Given the description of an element on the screen output the (x, y) to click on. 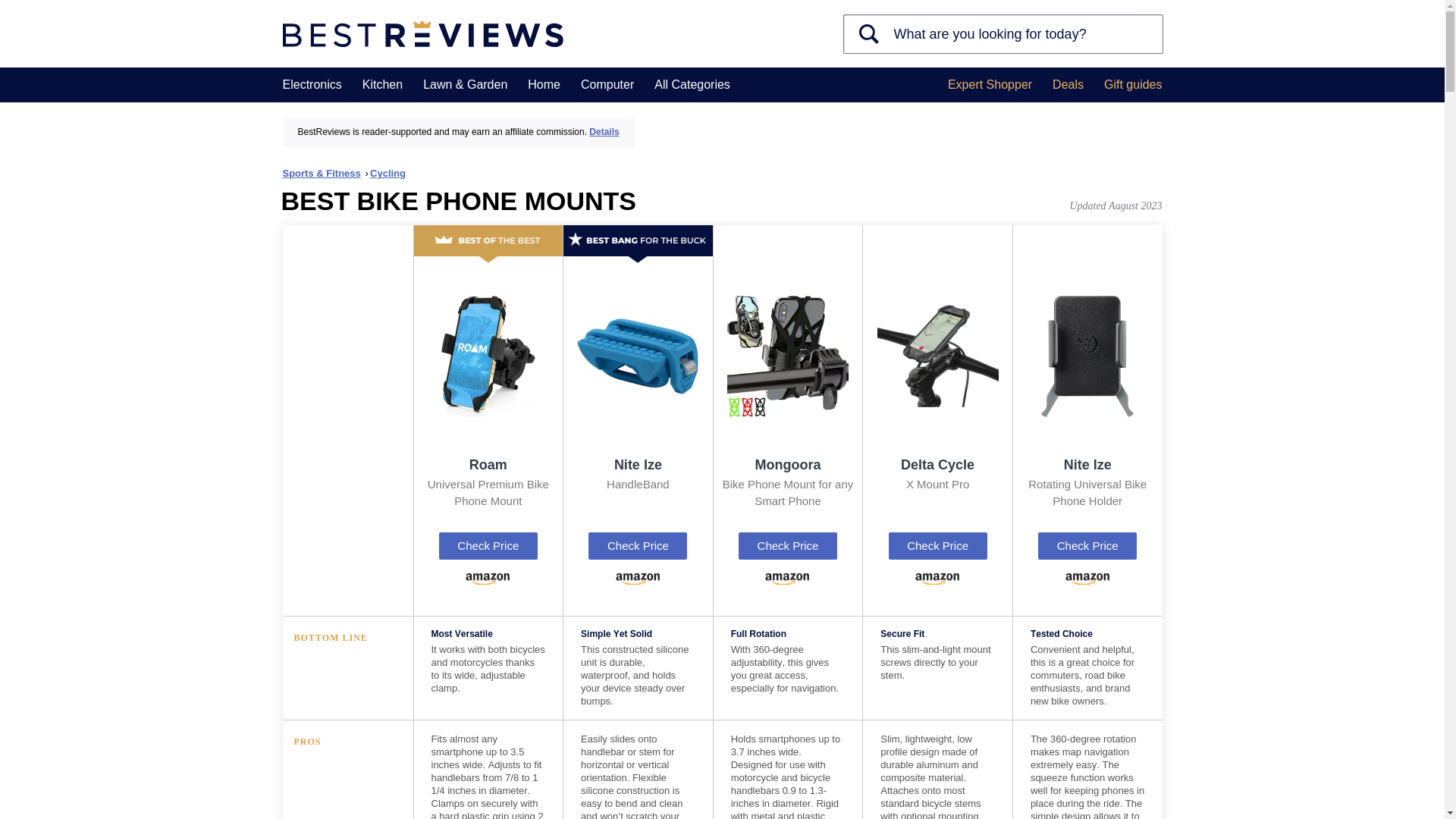
Cycling (387, 173)
Details (603, 131)
Expert Shopper (989, 84)
Kitchen (382, 84)
Deals (1067, 84)
Home (543, 84)
BestReviews Branding Logo (422, 34)
Electronics (311, 84)
All Categories (691, 84)
Computer (606, 84)
Gift guides (1132, 84)
